Given the description of an element on the screen output the (x, y) to click on. 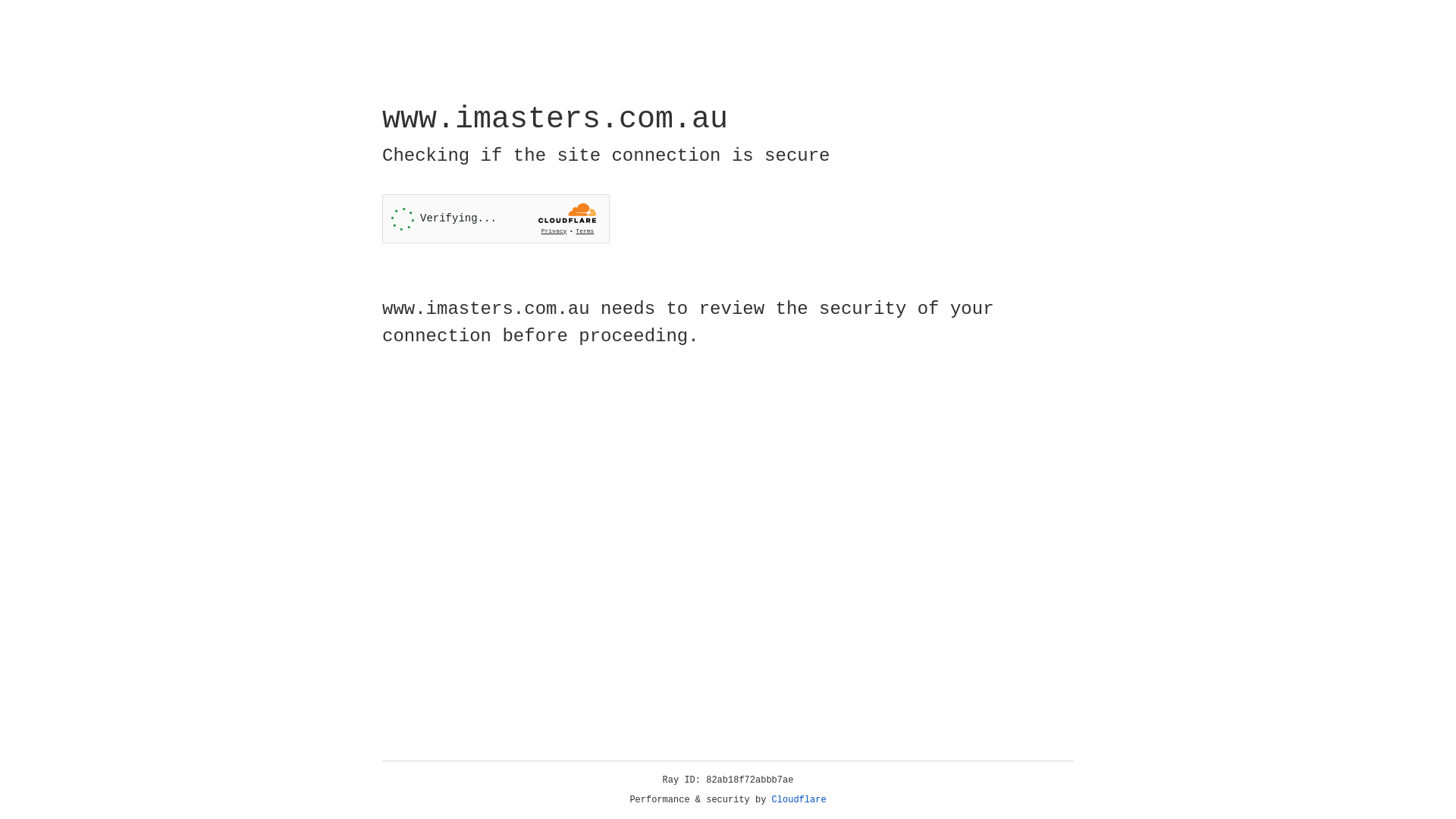
Widget containing a Cloudflare security challenge Element type: hover (495, 218)
Cloudflare Element type: text (798, 799)
